Given the description of an element on the screen output the (x, y) to click on. 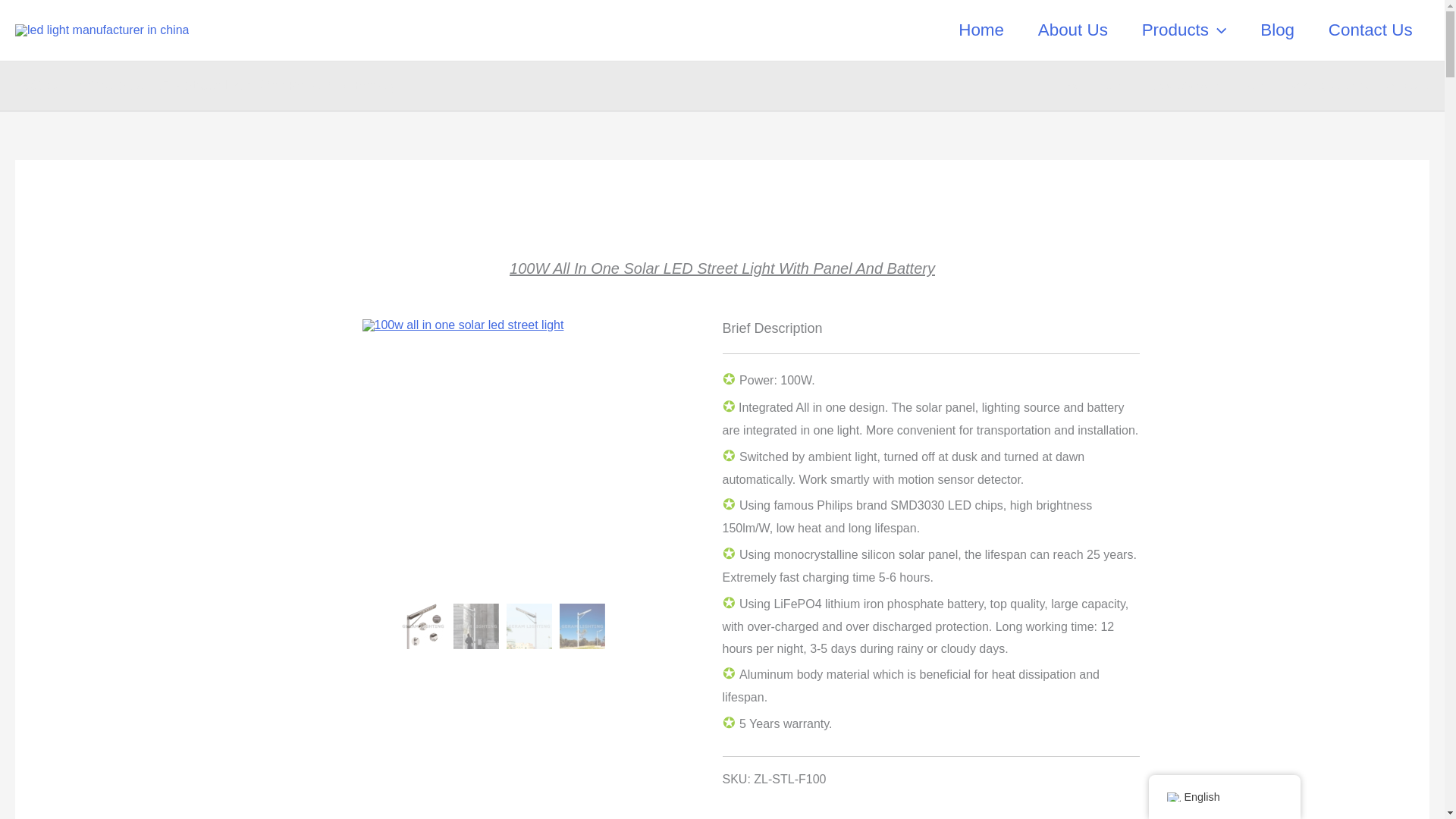
100w all in one solar led street light (422, 626)
100w all in one solar led street light (502, 325)
Products (1183, 30)
Contact Us (1370, 30)
100w all in one solar led street light (475, 626)
Blog (1277, 30)
About Us (1072, 30)
100w all in one solar led street light (528, 626)
100w all in one solar led street light (582, 626)
Home (982, 30)
